Given the description of an element on the screen output the (x, y) to click on. 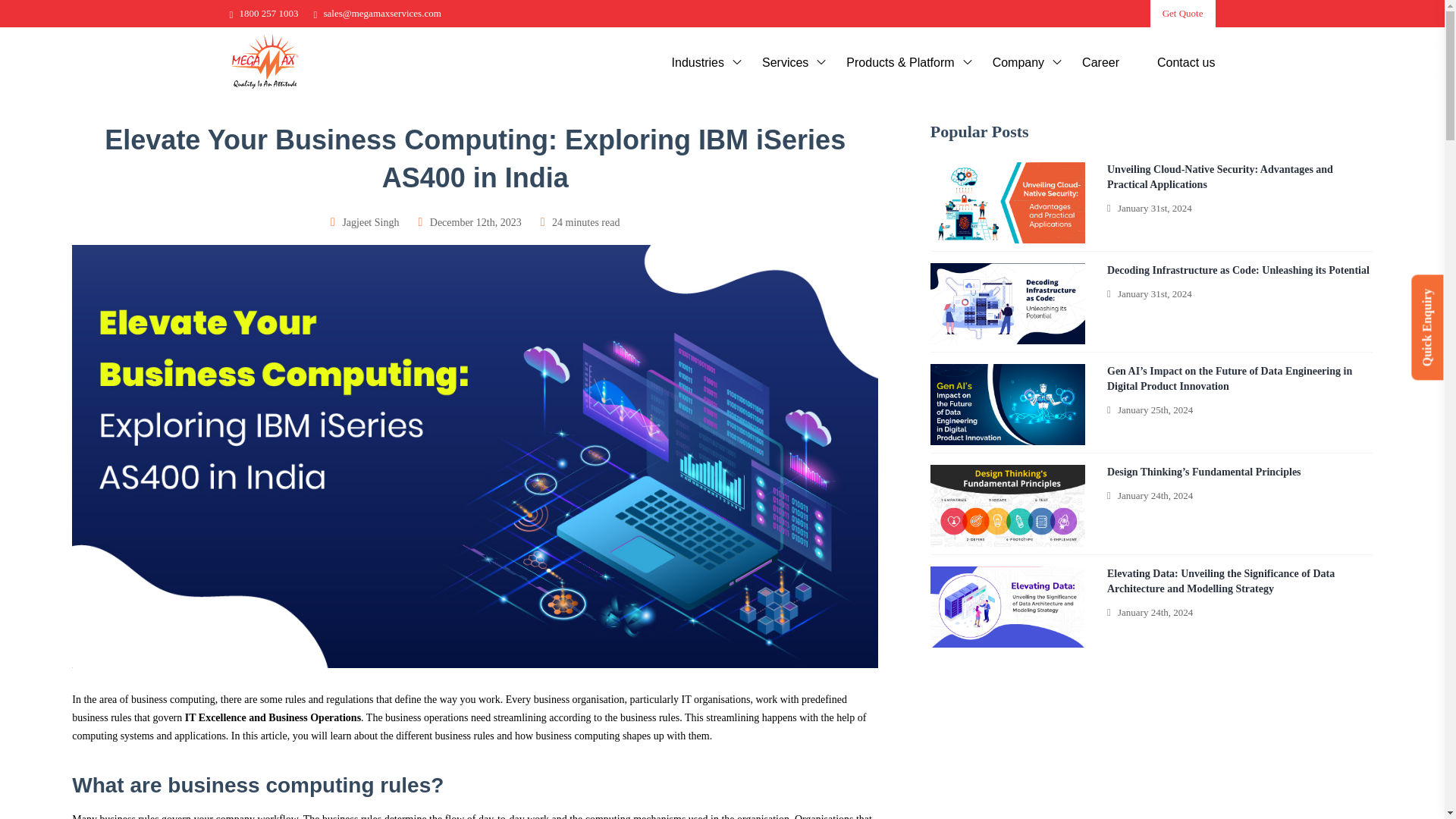
Posts by Jagjeet Singh (370, 222)
Get Quote (1182, 13)
1800 257 1003 (263, 12)
Industries (699, 61)
Services (786, 61)
